Given the description of an element on the screen output the (x, y) to click on. 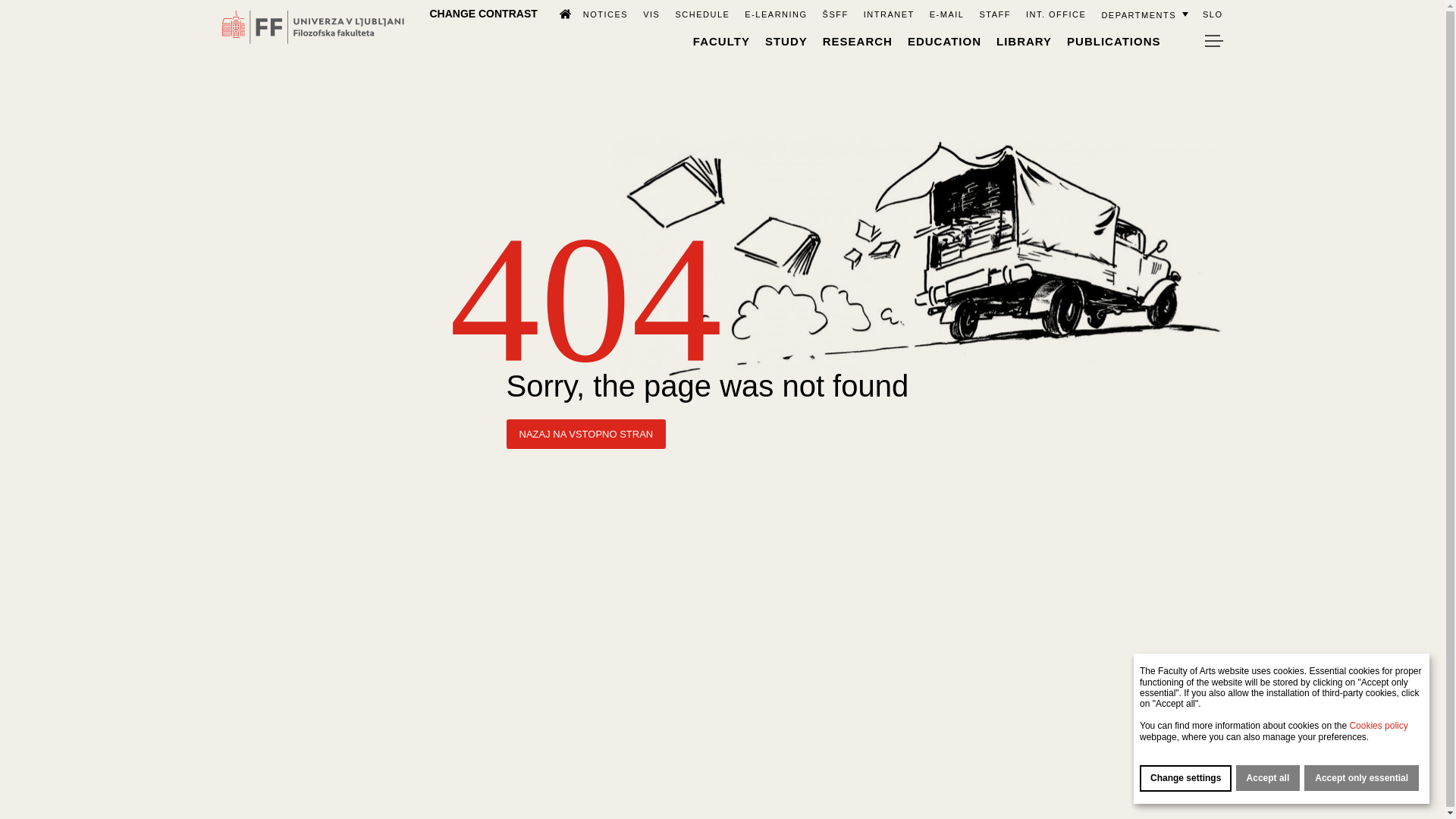
STAFF (994, 13)
Urnik (702, 13)
SLO (1212, 13)
INT. OFFICE (1056, 13)
HOME (558, 13)
CHANGE CONTRAST (483, 13)
DEPARTMENTS (1144, 14)
Intranet (888, 13)
STUDY (786, 41)
Home (558, 13)
